Given the description of an element on the screen output the (x, y) to click on. 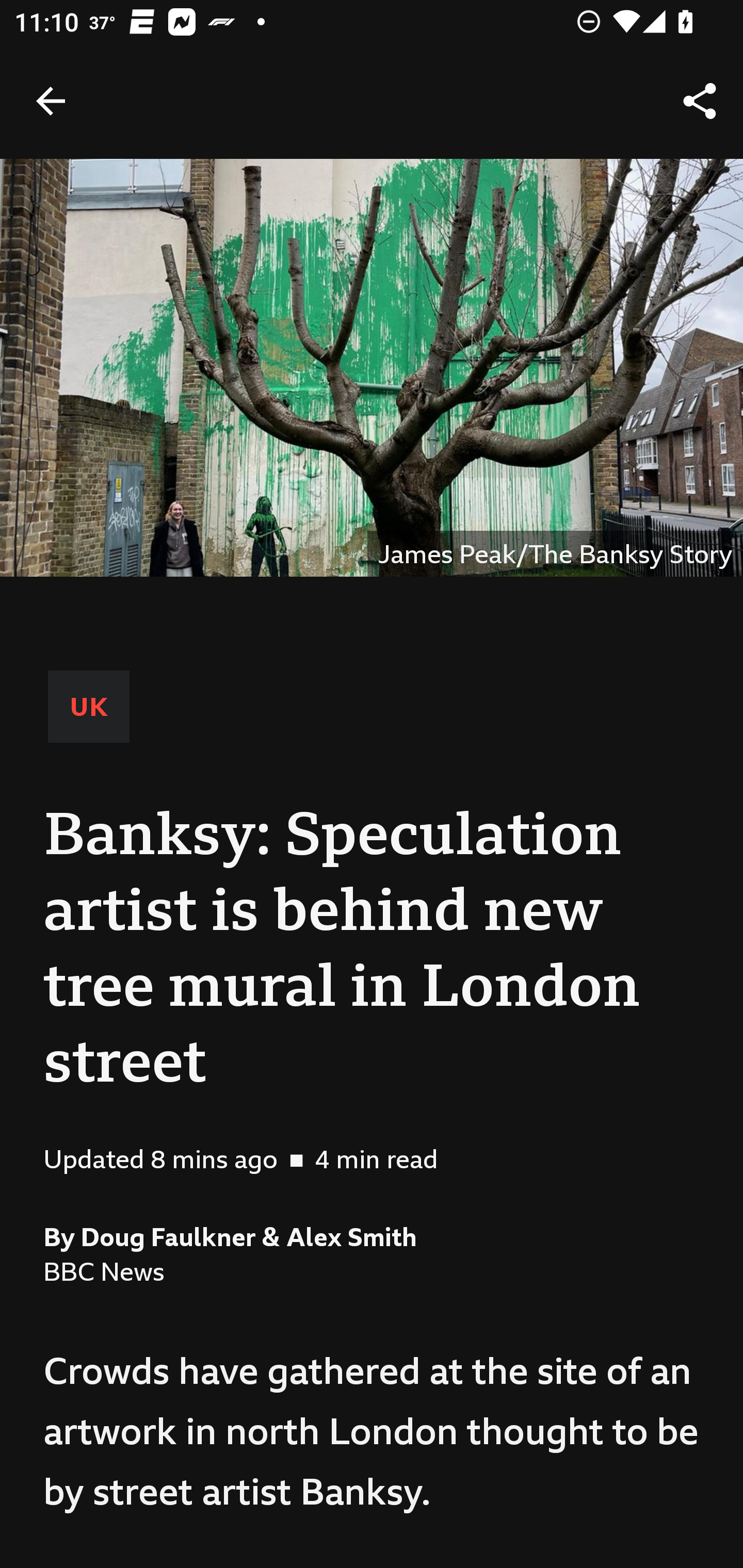
Back (50, 101)
Share (699, 101)
UK (88, 706)
